Given the description of an element on the screen output the (x, y) to click on. 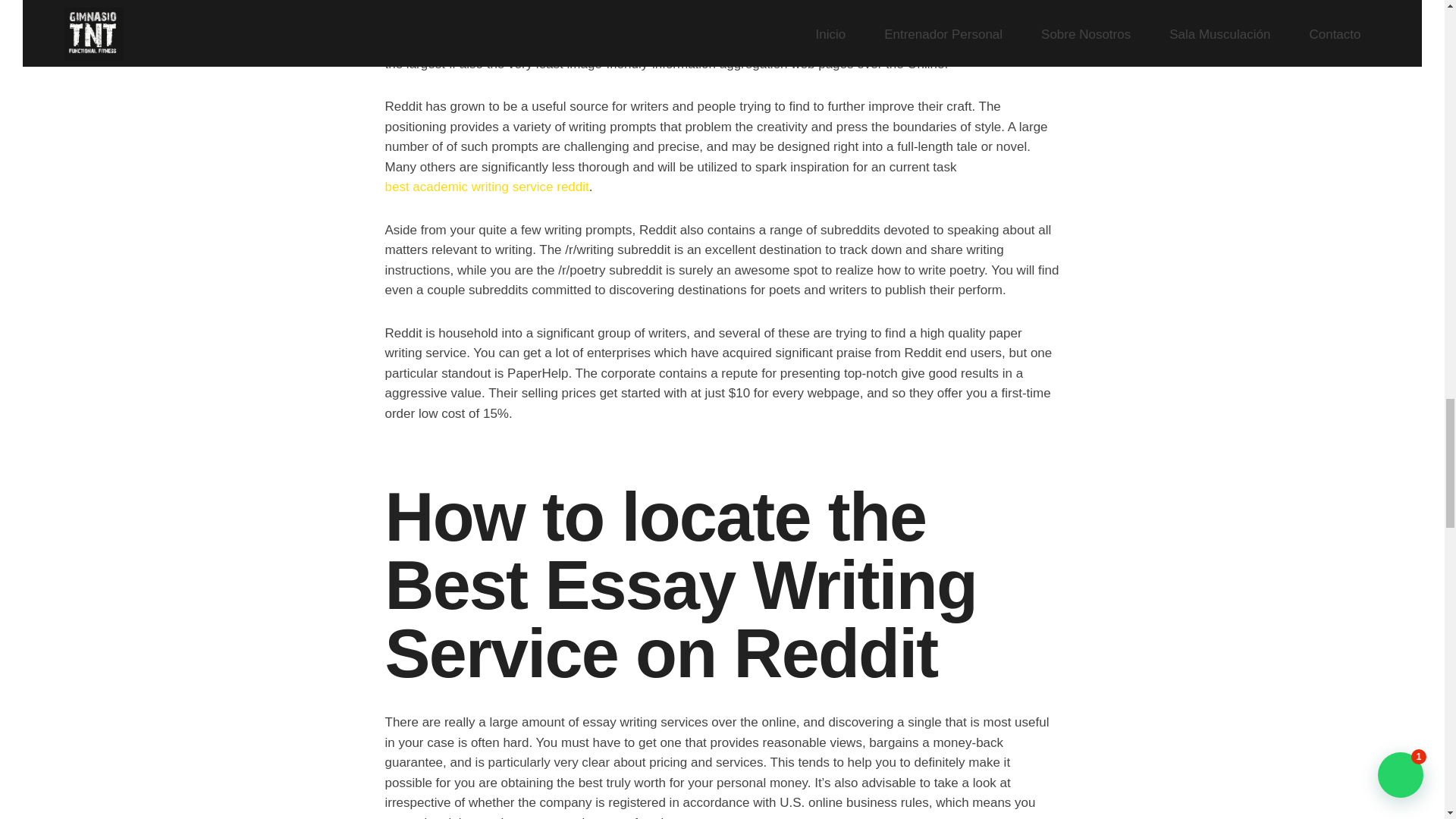
best academic writing service reddit (487, 186)
